Given the description of an element on the screen output the (x, y) to click on. 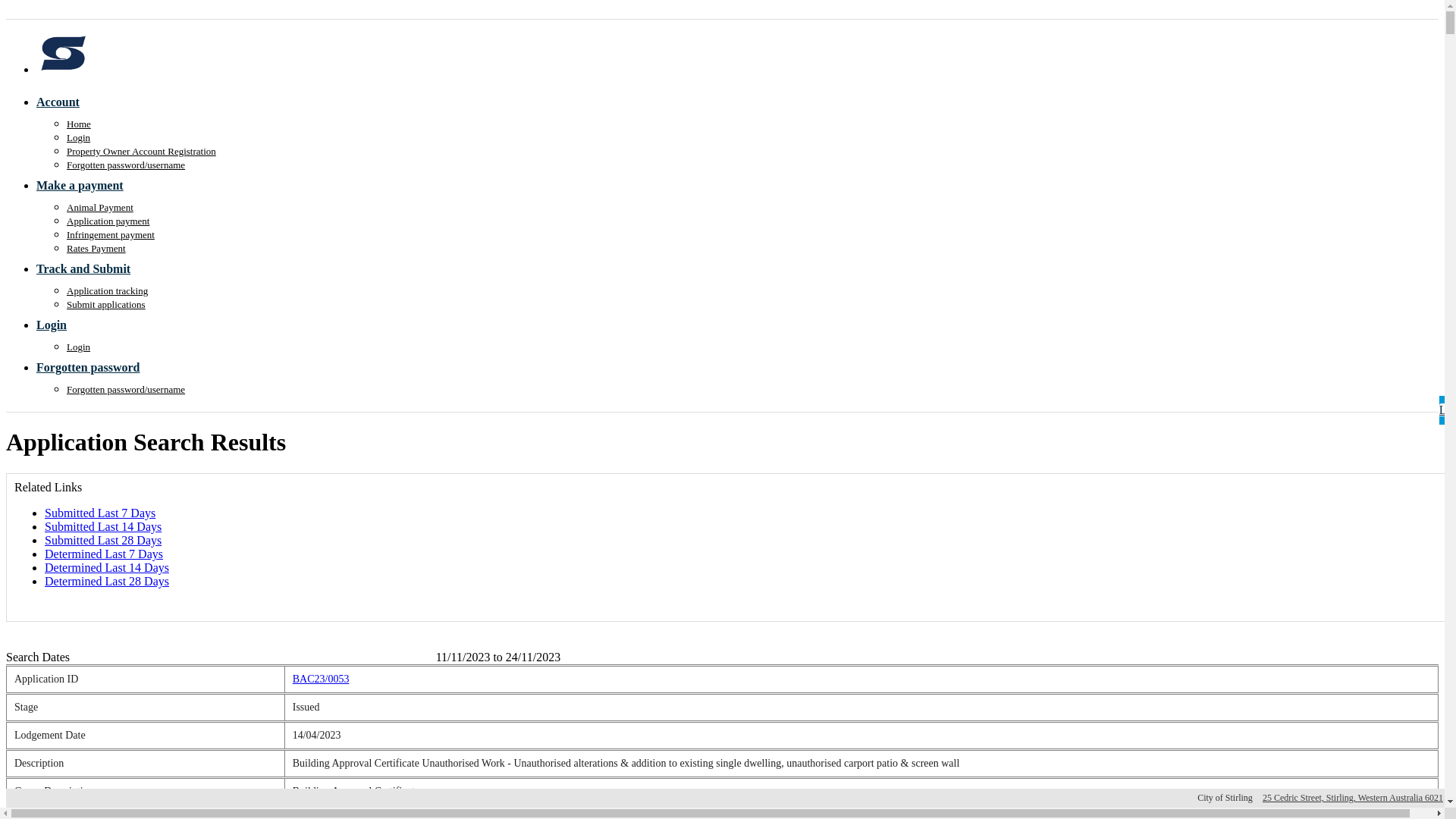
25 Cedric Street, Stirling, Western Australia 6021 Element type: text (1352, 797)
Infringement payment Element type: text (110, 234)
Login Element type: text (78, 346)
Application tracking Element type: text (106, 290)
Determined Last 14 Days Element type: text (106, 567)
Property Owner Account Registration Element type: text (141, 150)
Home Element type: text (78, 123)
Submitted Last 14 Days Element type: text (102, 526)
Determined Last 7 Days Element type: text (103, 553)
Forgotten password/username Element type: text (125, 389)
Track and Submit Element type: text (88, 268)
Submitted Last 7 Days Element type: text (99, 512)
Make a payment Element type: text (85, 184)
BAC23/0053 Element type: text (320, 678)
Application payment Element type: text (107, 220)
Submitted Last 28 Days Element type: text (102, 539)
Forgotten password Element type: text (93, 366)
Account Element type: text (63, 101)
Rates Payment Element type: text (95, 248)
Animal Payment Element type: text (99, 207)
Login Element type: text (57, 324)
Go to City of Stirling Home Page Element type: hover (62, 68)
Forgotten password/username Element type: text (125, 164)
Login Element type: text (78, 137)
Determined Last 28 Days Element type: text (106, 580)
Submit applications Element type: text (105, 304)
